Given the description of an element on the screen output the (x, y) to click on. 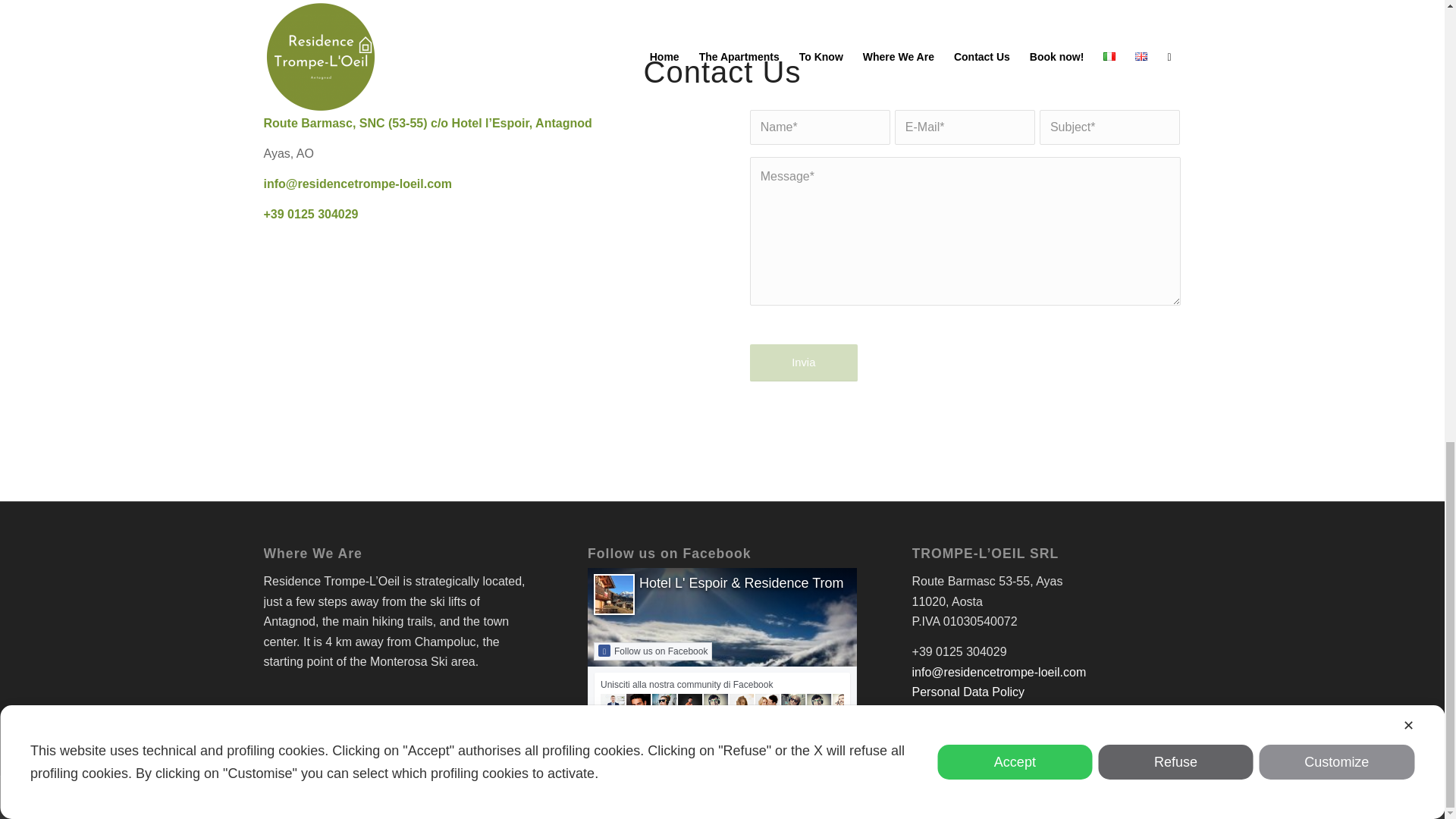
Please validate that you are a human first (803, 362)
Follow us on Facebook (652, 651)
Personal Data Policy (968, 691)
Invia (803, 362)
Sunday Venturini (500, 797)
